Given the description of an element on the screen output the (x, y) to click on. 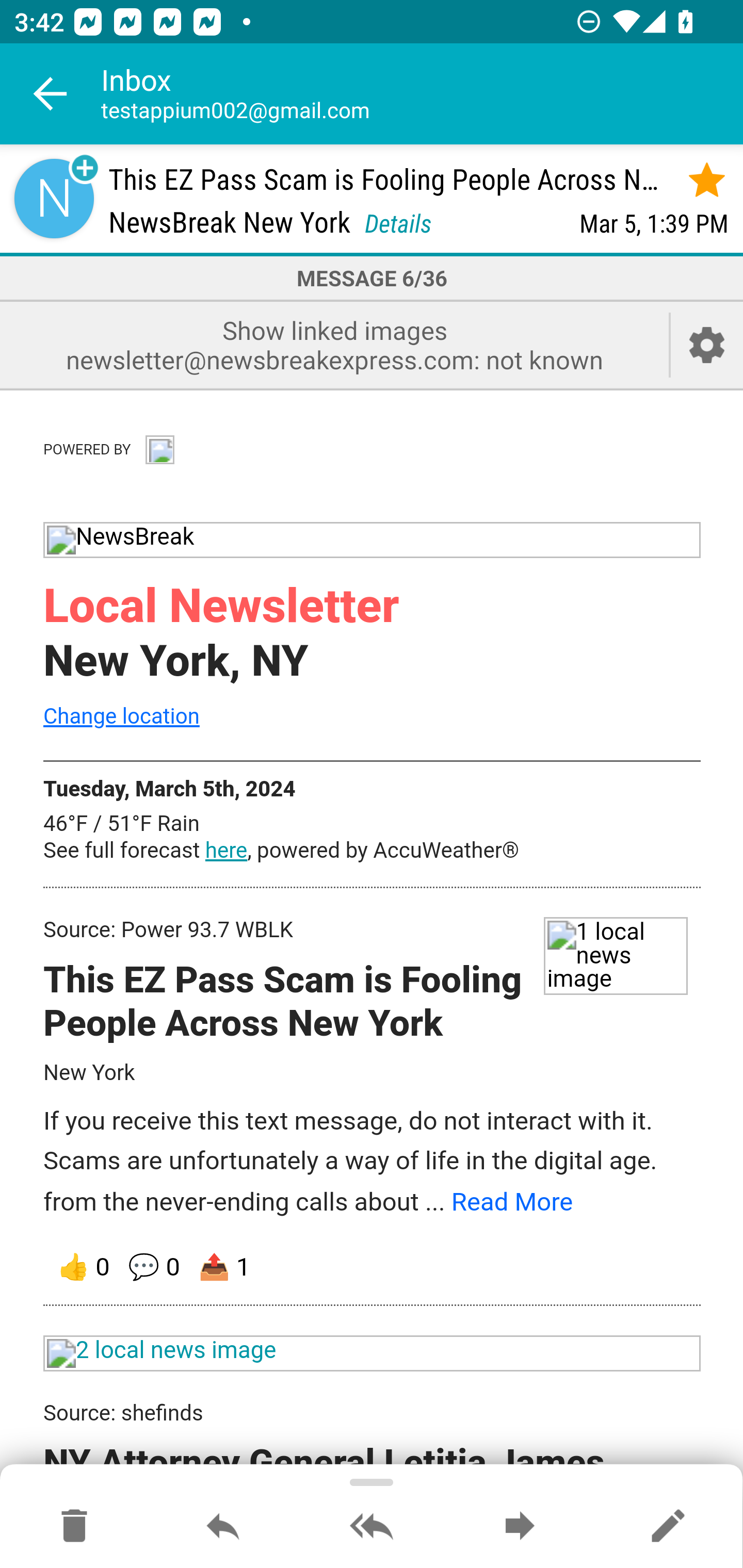
Navigate up (50, 93)
Inbox testappium002@gmail.com (422, 93)
Sender contact button (53, 198)
Account setup (706, 344)
info (159, 447)
Change location (121, 715)
here (225, 850)
👍 0   💬 0   📤 1 (372, 1267)
2 local news image (372, 1353)
Move to Deleted (74, 1527)
Reply (222, 1527)
Reply all (371, 1527)
Forward (519, 1527)
Reply as new (667, 1527)
